Given the description of an element on the screen output the (x, y) to click on. 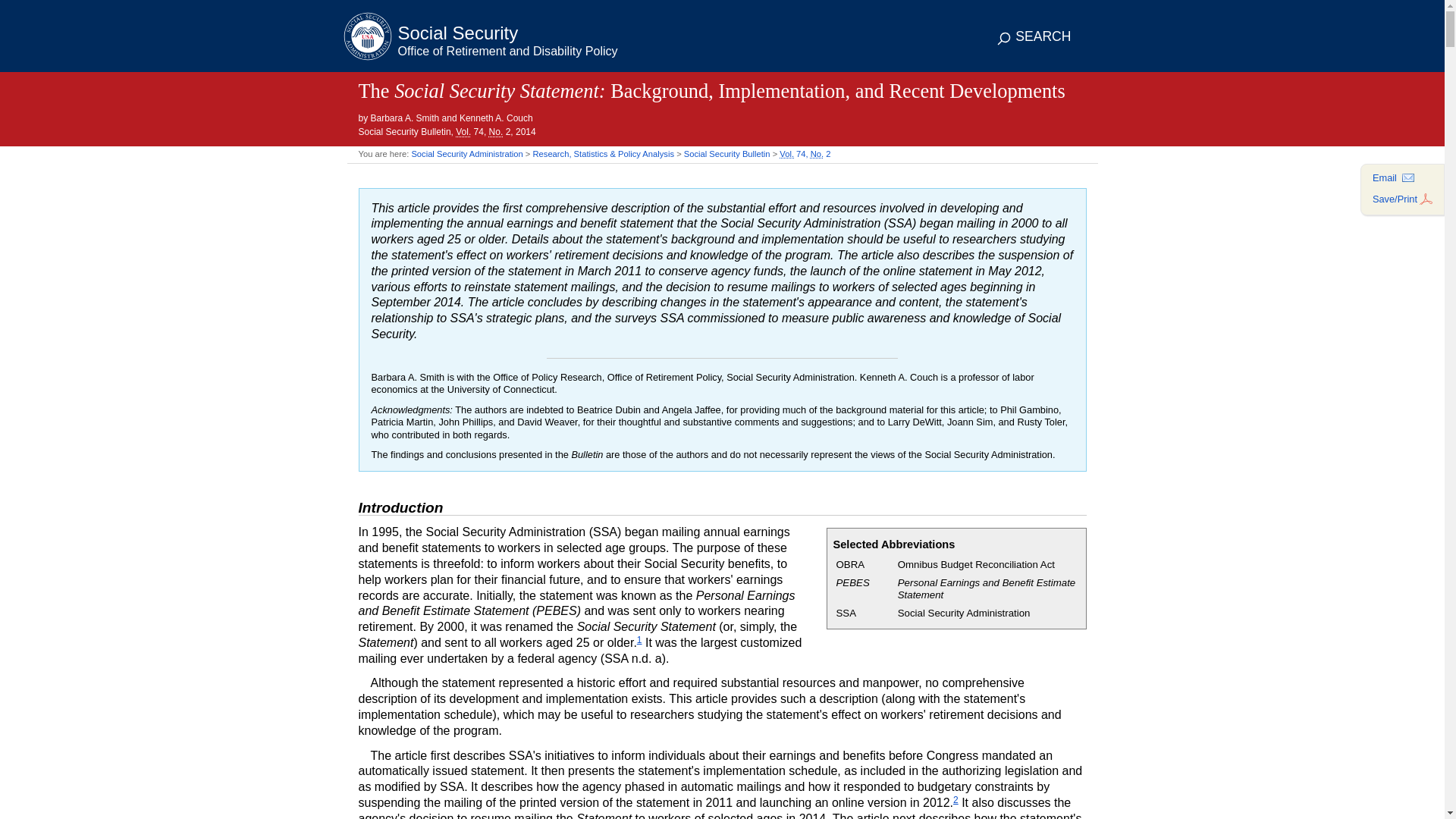
Number (496, 131)
Social Security Bulletin (727, 153)
Vol. 74, No. 2 (803, 153)
Number (817, 153)
SEARCH (1033, 38)
Volume (785, 153)
Volume (462, 131)
Social Security (479, 42)
Email (1394, 177)
Social Security Administration (466, 153)
